Given the description of an element on the screen output the (x, y) to click on. 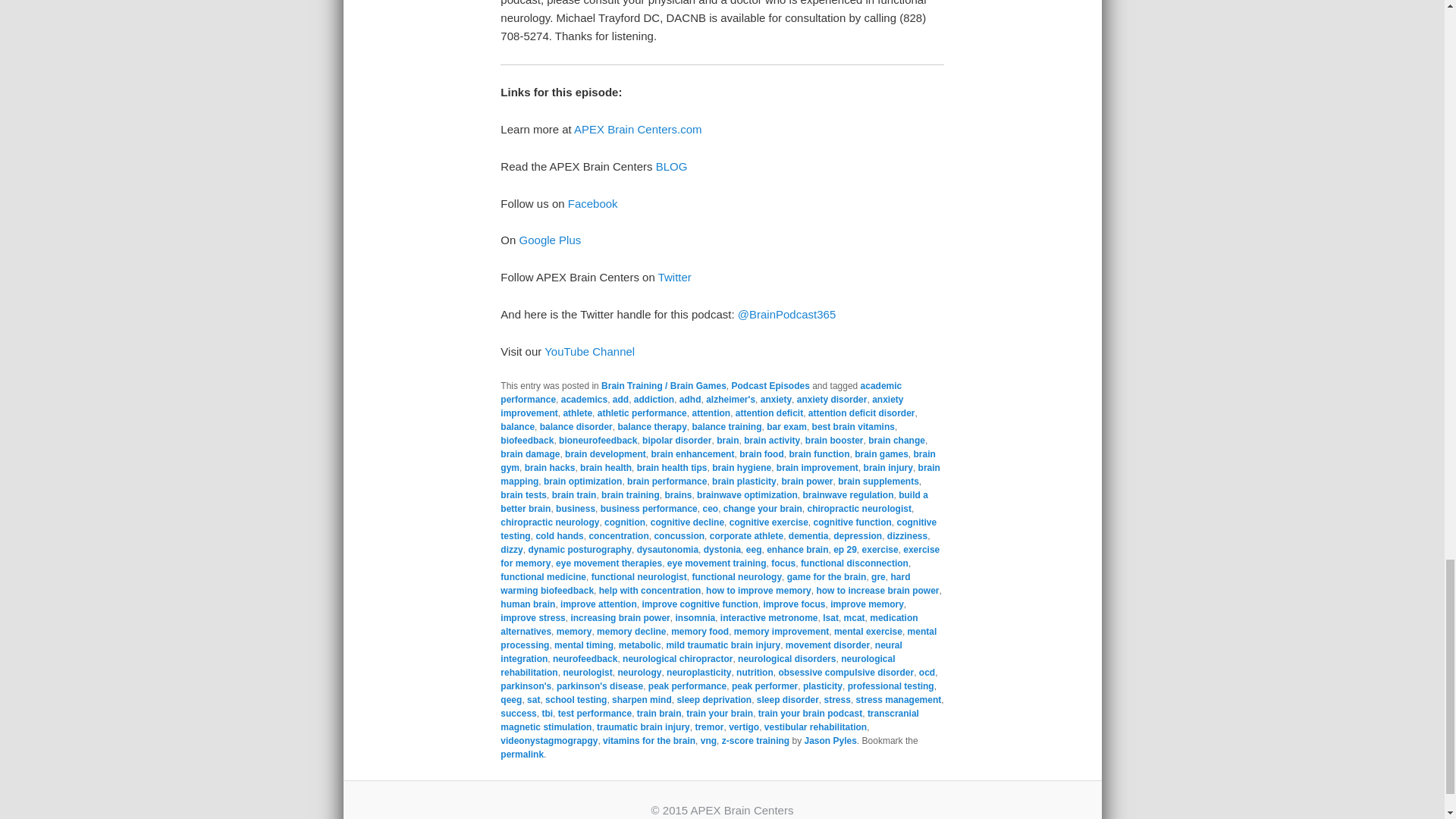
anxiety improvement (701, 405)
add (620, 398)
Facebook (592, 203)
BLOG (671, 165)
Podcast Episodes (769, 385)
academics (583, 398)
balance (517, 426)
athlete (577, 412)
adhd (690, 398)
academic performance (700, 392)
